Given the description of an element on the screen output the (x, y) to click on. 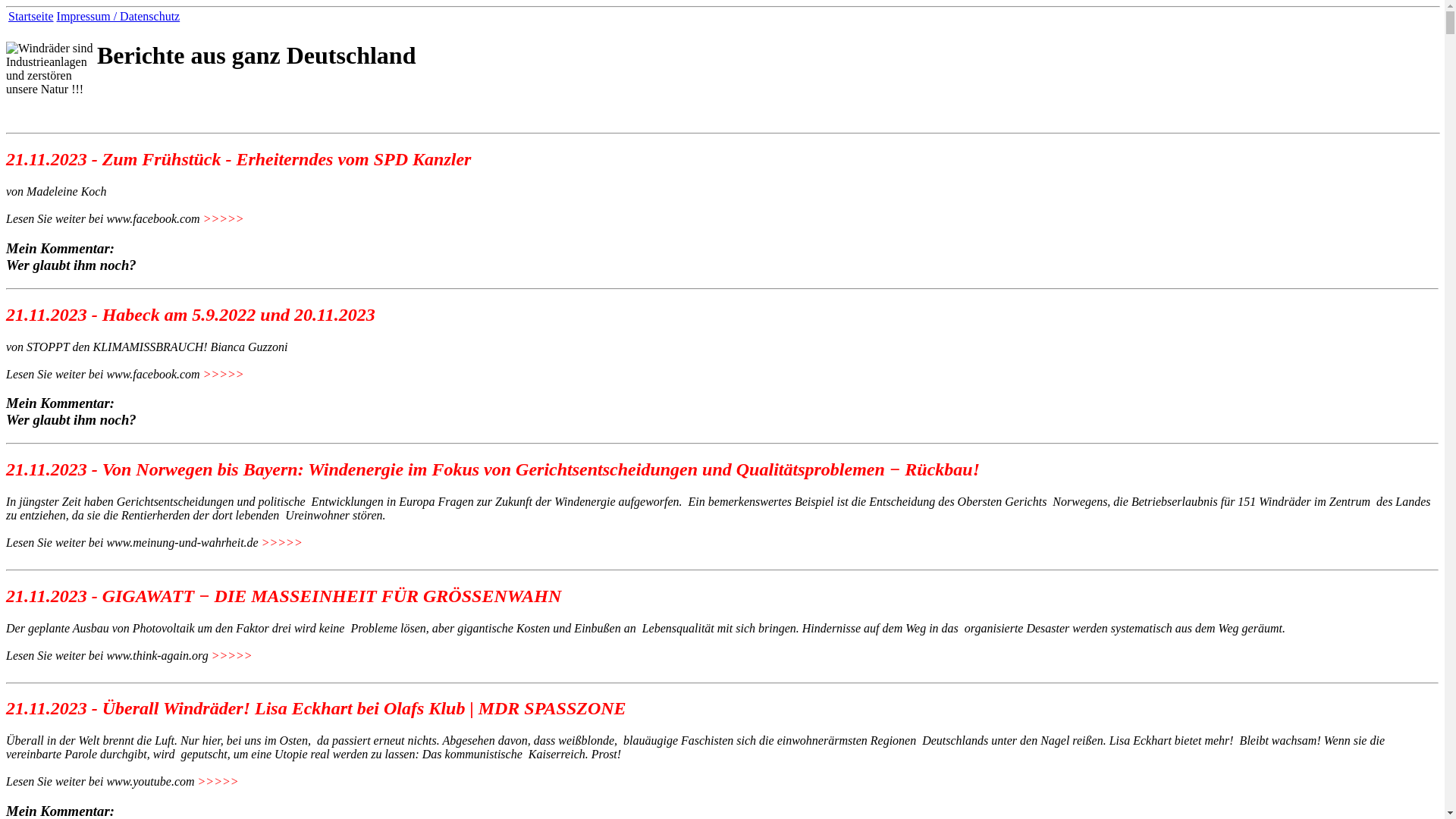
Startseite Element type: text (30, 15)
>>>>> Element type: text (231, 655)
Impressum / Datenschutz Element type: text (118, 15)
>>>>> Element type: text (217, 781)
>>>>> Element type: text (223, 373)
>>>>> Element type: text (223, 218)
>>>>> Element type: text (281, 542)
